Given the description of an element on the screen output the (x, y) to click on. 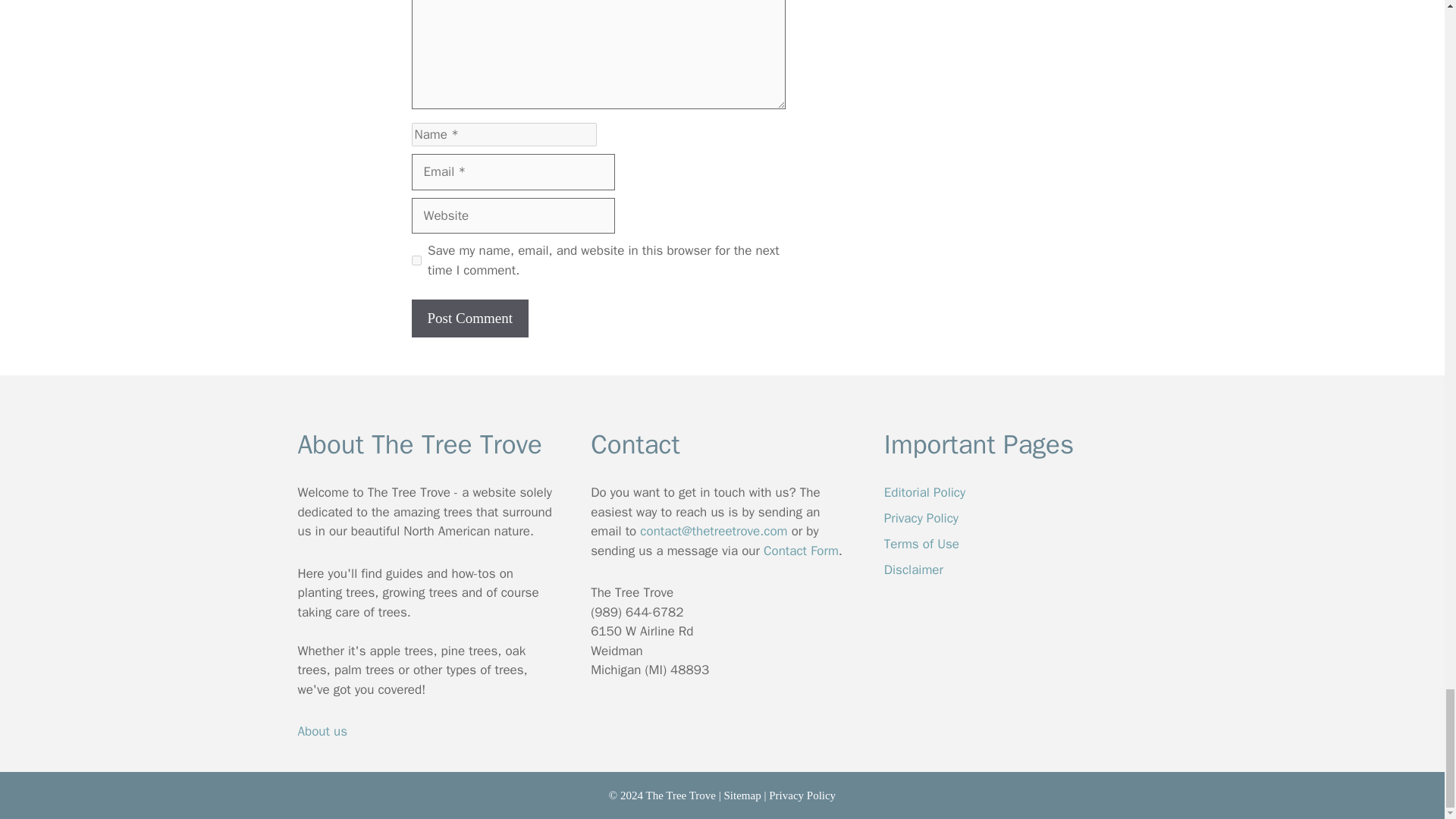
Post Comment (468, 318)
yes (415, 260)
